Given the description of an element on the screen output the (x, y) to click on. 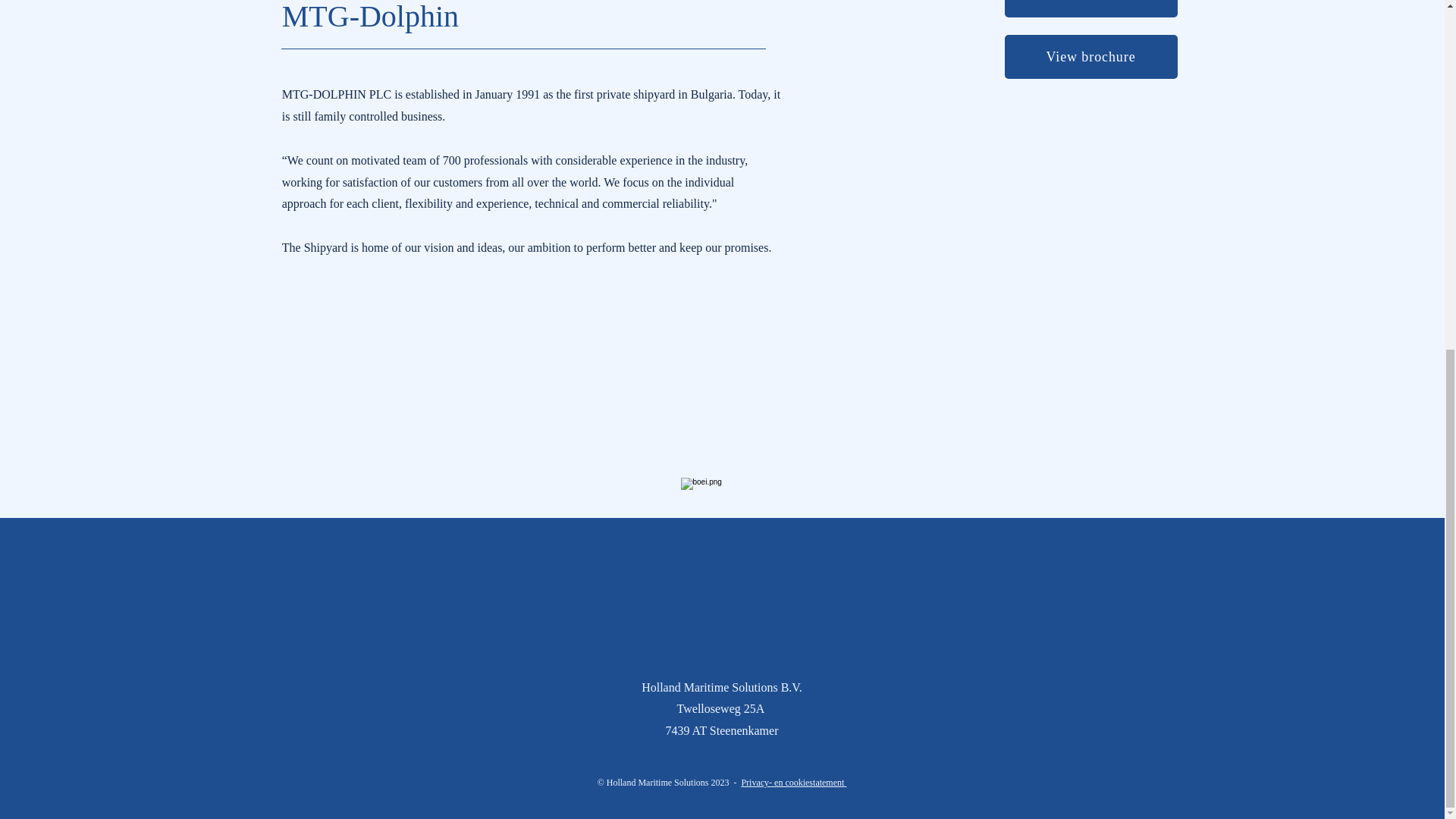
Visit website (1090, 8)
Privacy- en cookiestatement  (793, 782)
View brochure (1090, 56)
